Given the description of an element on the screen output the (x, y) to click on. 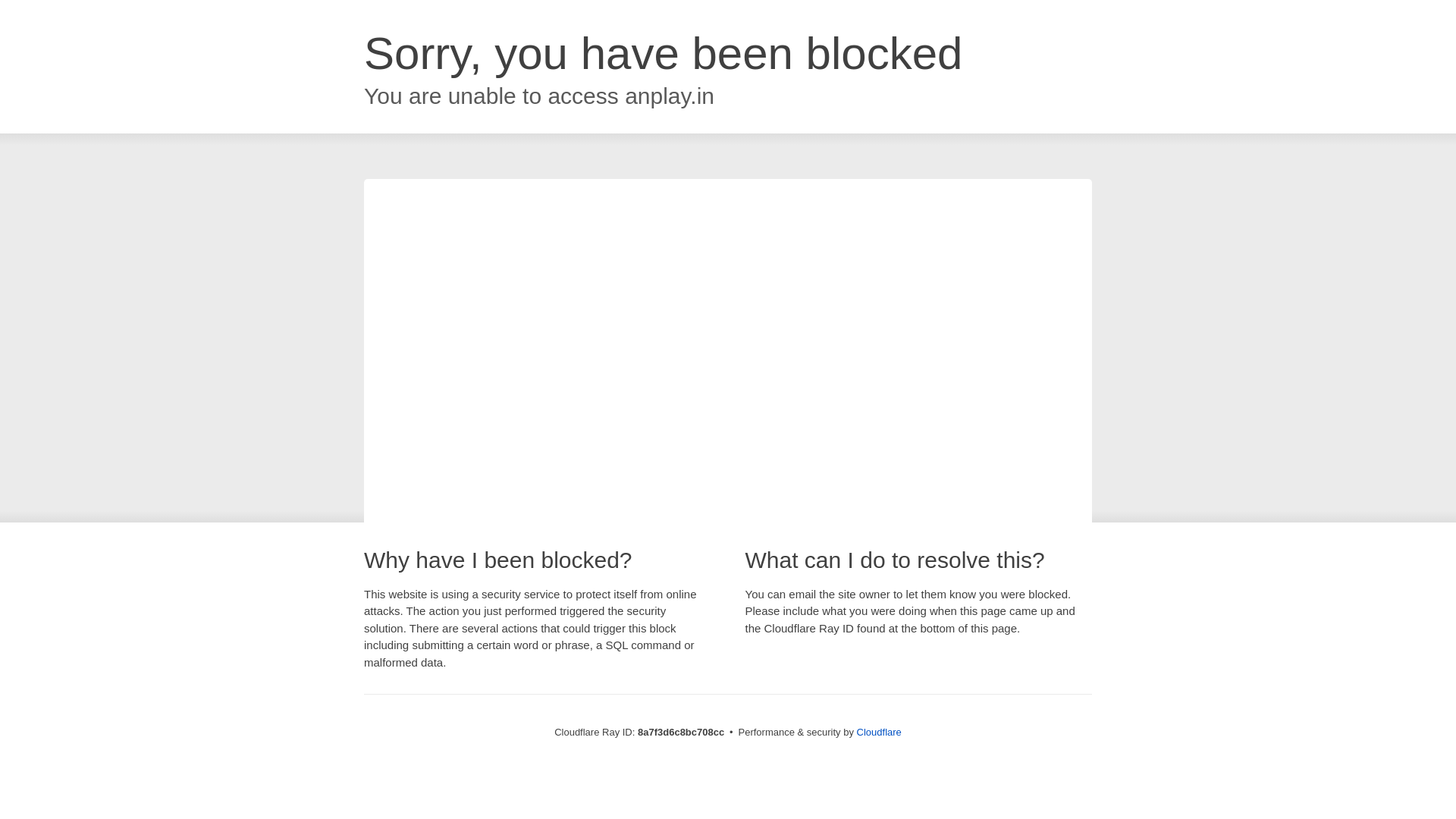
Cloudflare (879, 731)
